Given the description of an element on the screen output the (x, y) to click on. 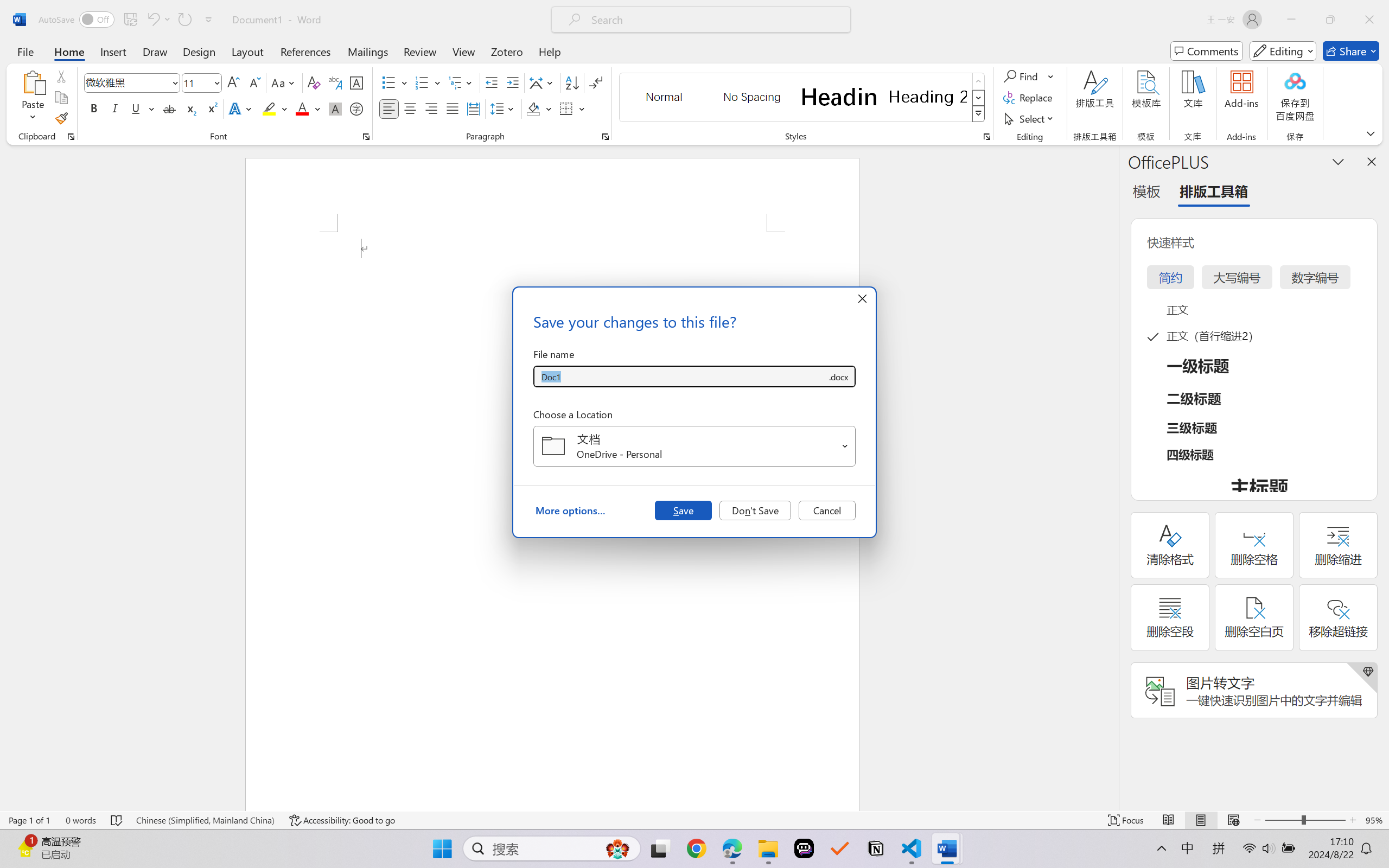
AutomationID: QuickStylesGallery (802, 97)
Save as type (837, 376)
Undo <ApplyStyleToDoc>b__0 (152, 19)
